Given the description of an element on the screen output the (x, y) to click on. 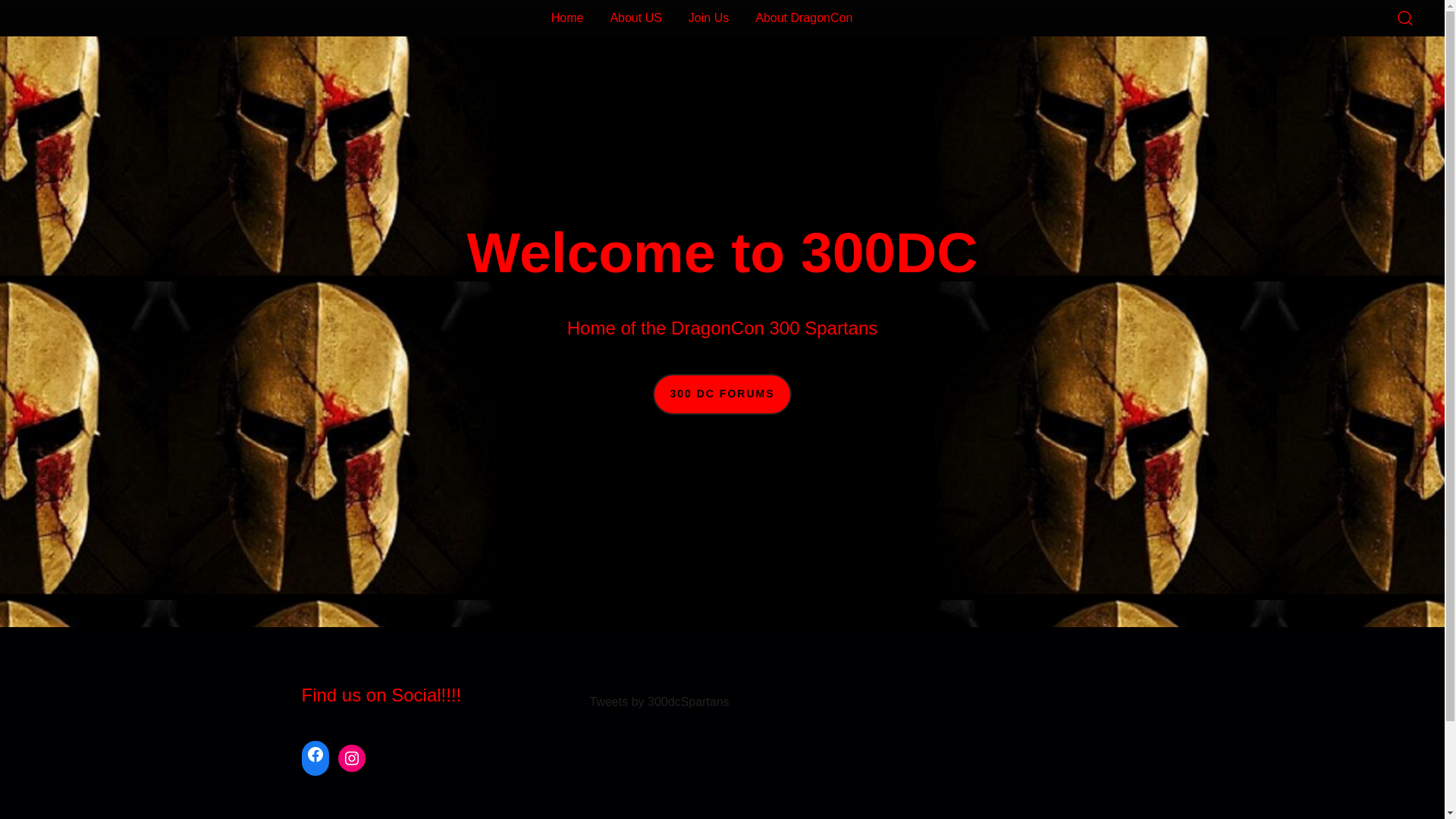
Welcome to 300DC Element type: text (566, 8)
Tweets by 300dcSpartans Element type: text (659, 701)
Instagram Element type: text (351, 757)
Join Us Element type: text (708, 18)
About DragonCon Element type: text (803, 18)
Facebook Element type: text (315, 754)
About US Element type: text (635, 18)
300 DC FORUMS Element type: text (721, 393)
Home Element type: text (567, 18)
